Given the description of an element on the screen output the (x, y) to click on. 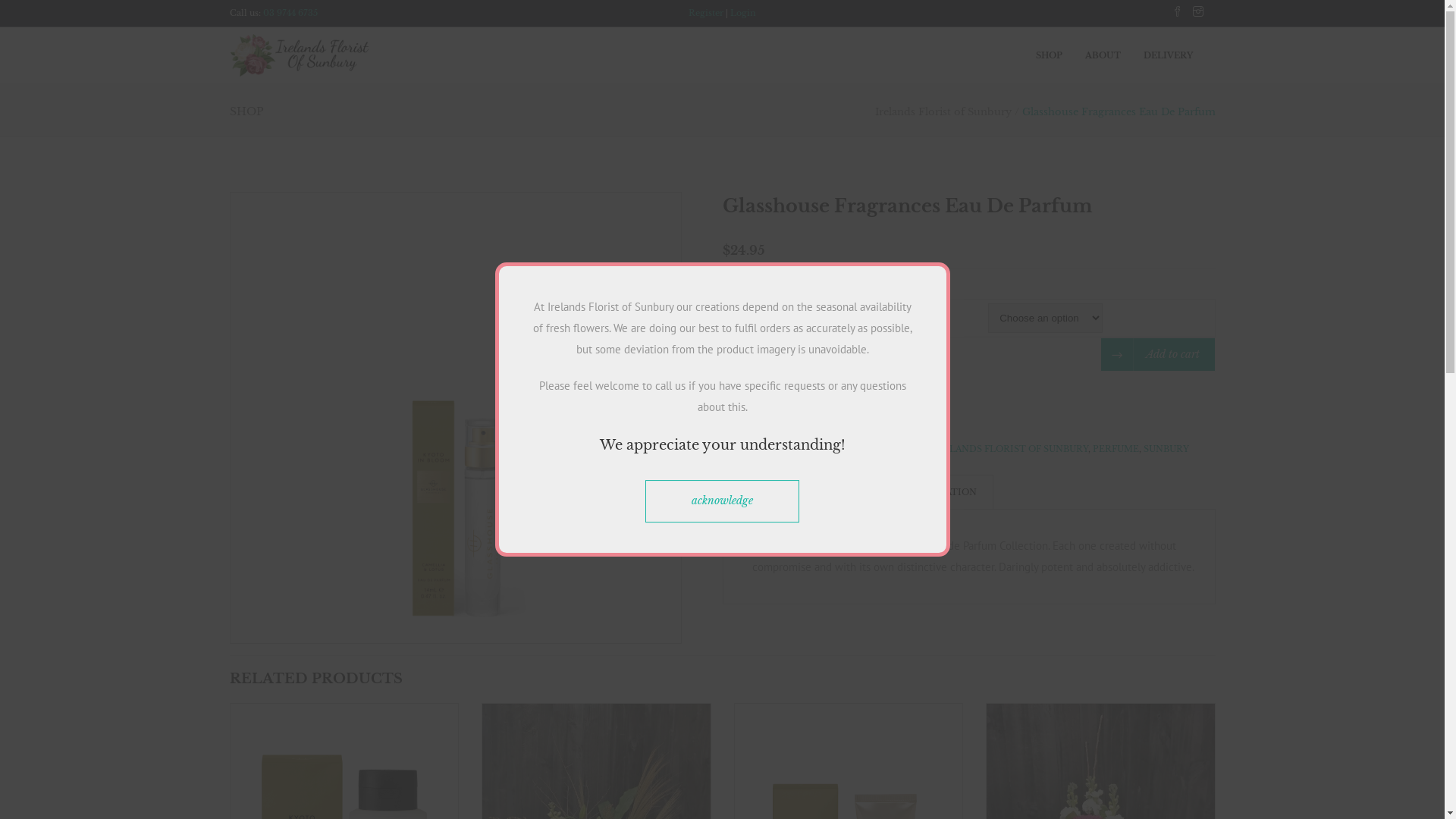
PERFUME Element type: text (1115, 448)
Register Element type: text (705, 12)
03 9744 6735 Element type: text (289, 12)
acknowledge Element type: text (722, 501)
SUNBURY Element type: text (1166, 448)
SHOP Element type: text (1060, 55)
ABOUT Element type: text (1113, 55)
FLORIST Element type: text (772, 448)
Add to cart Element type: text (1156, 354)
GLASSHOUSE FRAGRANCES Element type: text (862, 448)
ADDITIONAL INFORMATION Element type: text (907, 491)
DELIVERY Element type: text (1179, 55)
IRELANDS FLORIST OF SUNBURY Element type: text (1010, 448)
Qty Element type: hover (742, 356)
Irelands Florist of Sunbury Element type: text (943, 111)
BODY CARE Element type: text (806, 412)
DESCRIPTION Element type: text (772, 491)
Login Element type: text (743, 12)
